Given the description of an element on the screen output the (x, y) to click on. 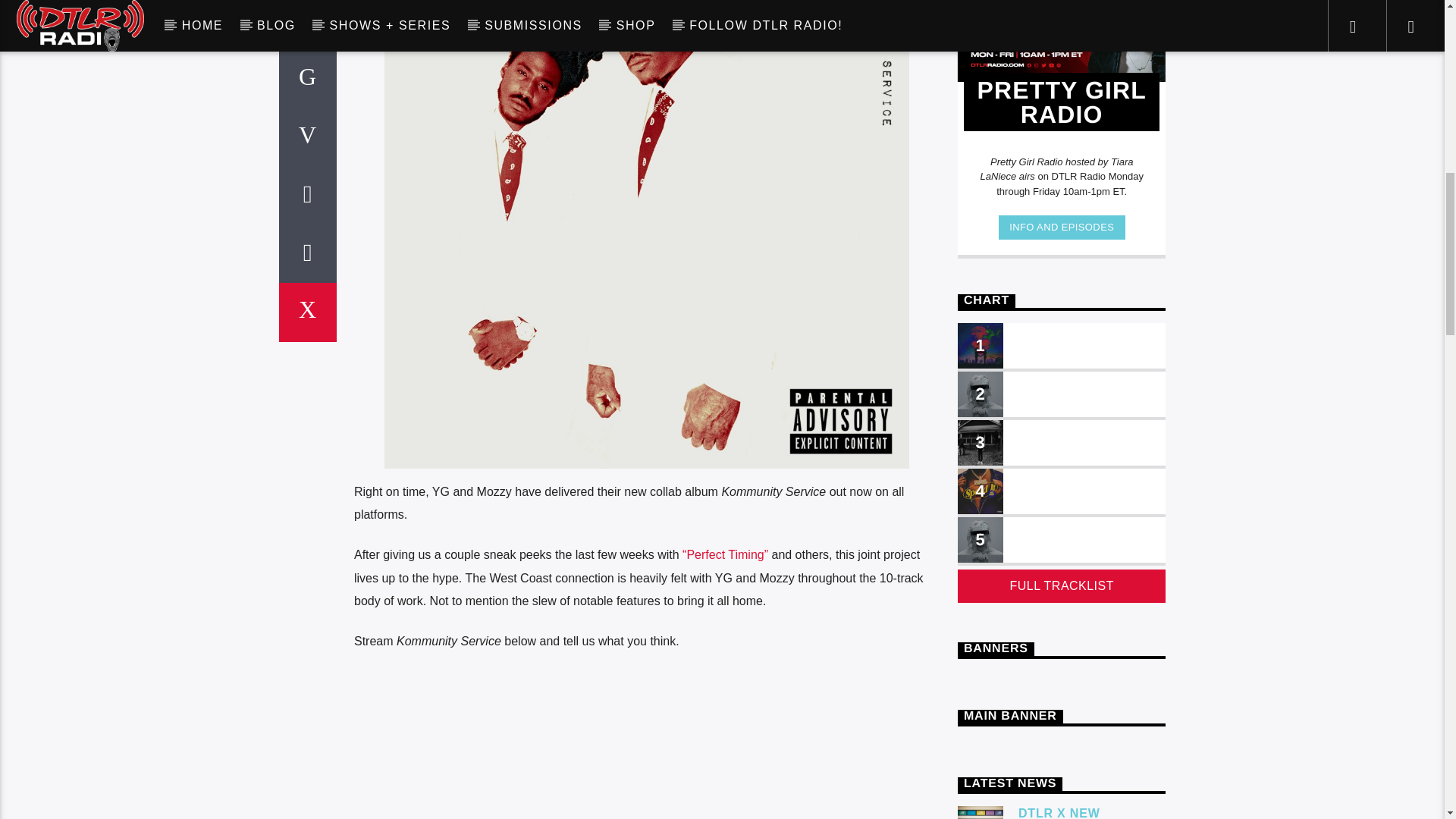
Spotify Embed: Kommunity Service (646, 744)
